Given the description of an element on the screen output the (x, y) to click on. 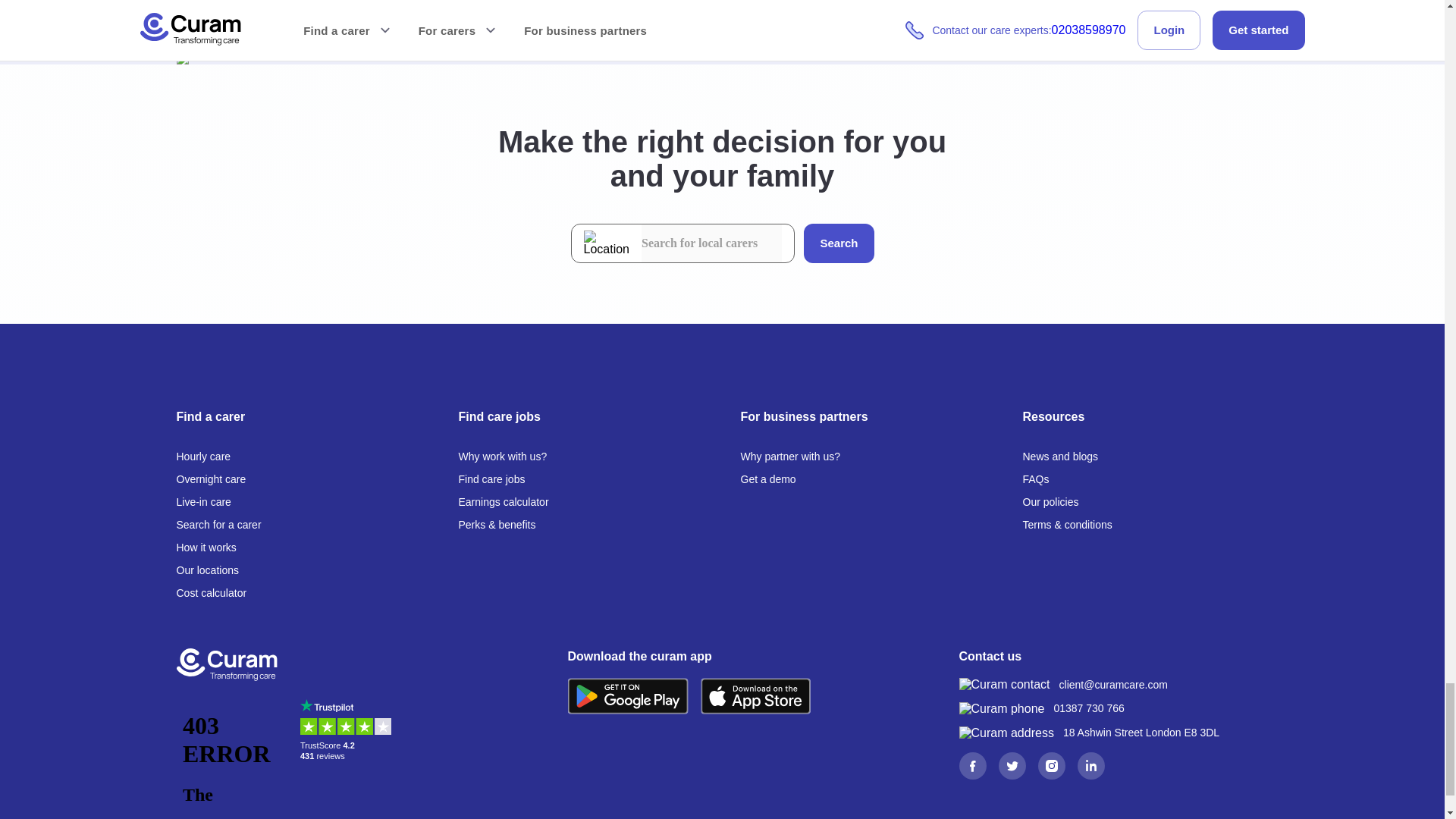
Cost calculator (211, 592)
Customer reviews powered by Trustpilot (348, 752)
